Given the description of an element on the screen output the (x, y) to click on. 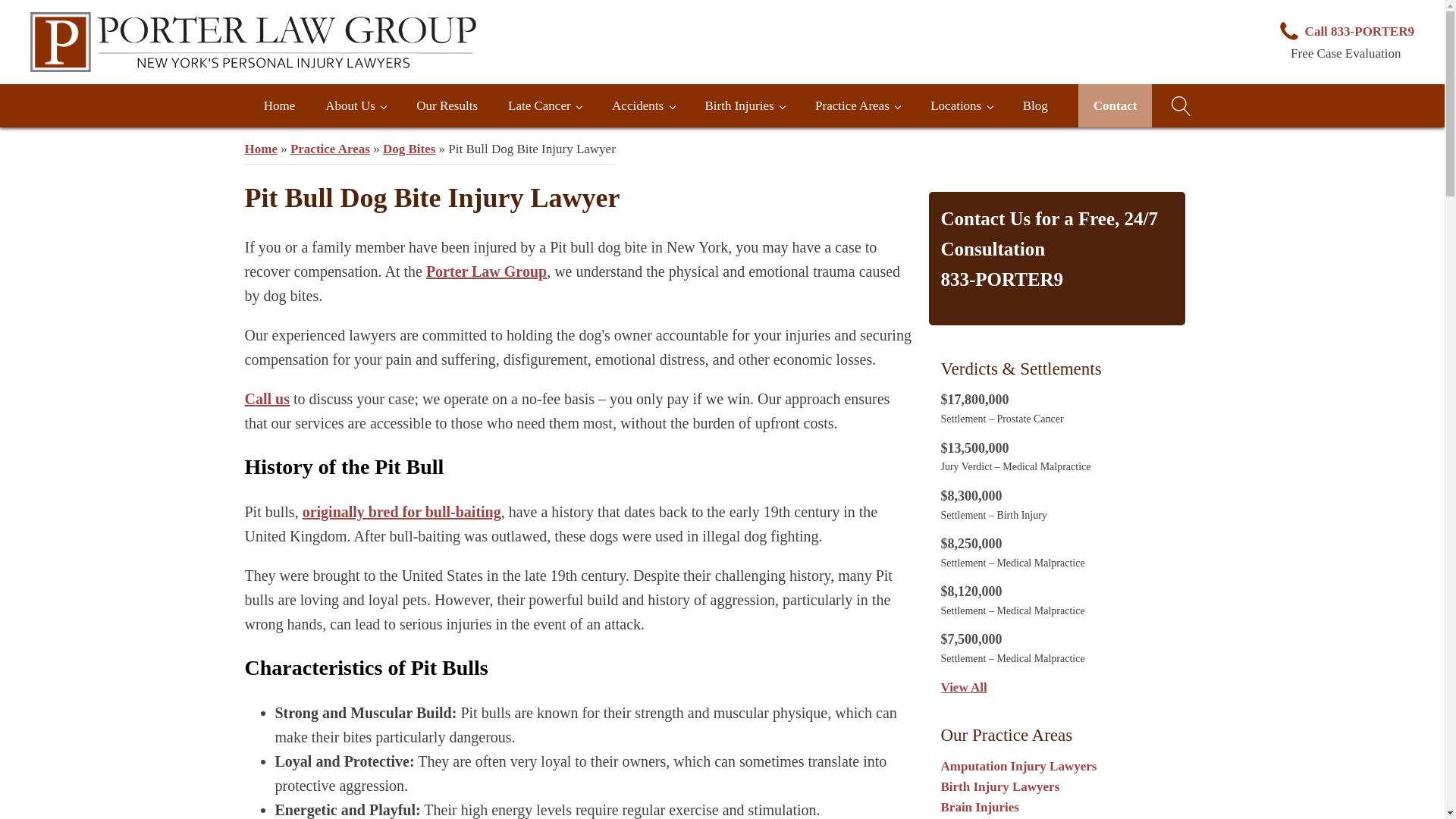
Our Results (447, 105)
Practice Areas (857, 105)
Accidents (642, 105)
About Us (355, 105)
Call 833-PORTER9 (1345, 31)
Late Cancer (544, 105)
Birth Injuries (743, 105)
Home (279, 105)
